Given the description of an element on the screen output the (x, y) to click on. 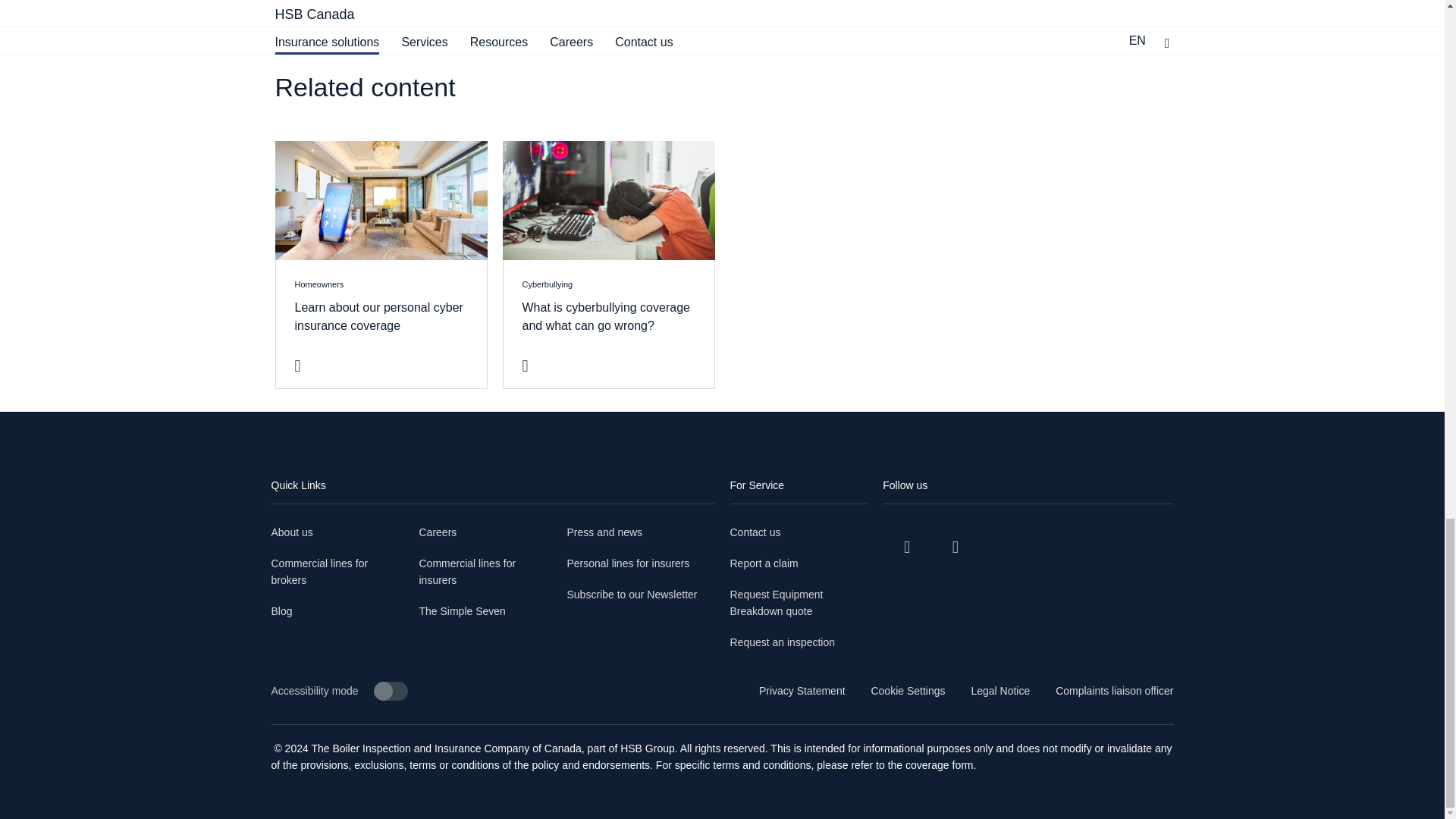
Careers (438, 533)
Contact us (380, 264)
Blog (798, 533)
Commercial lines for brokers (281, 612)
About us (337, 573)
The Simple Seven (291, 533)
Press and news (462, 612)
Subscribe to our Newsletter (605, 533)
Commercial lines for insurers (632, 595)
Examples of cyberbullying and insurance claims (485, 573)
Cyber insurance coverage for homeowners (608, 200)
Report a claim (380, 200)
Personal lines for insurers (798, 564)
